Given the description of an element on the screen output the (x, y) to click on. 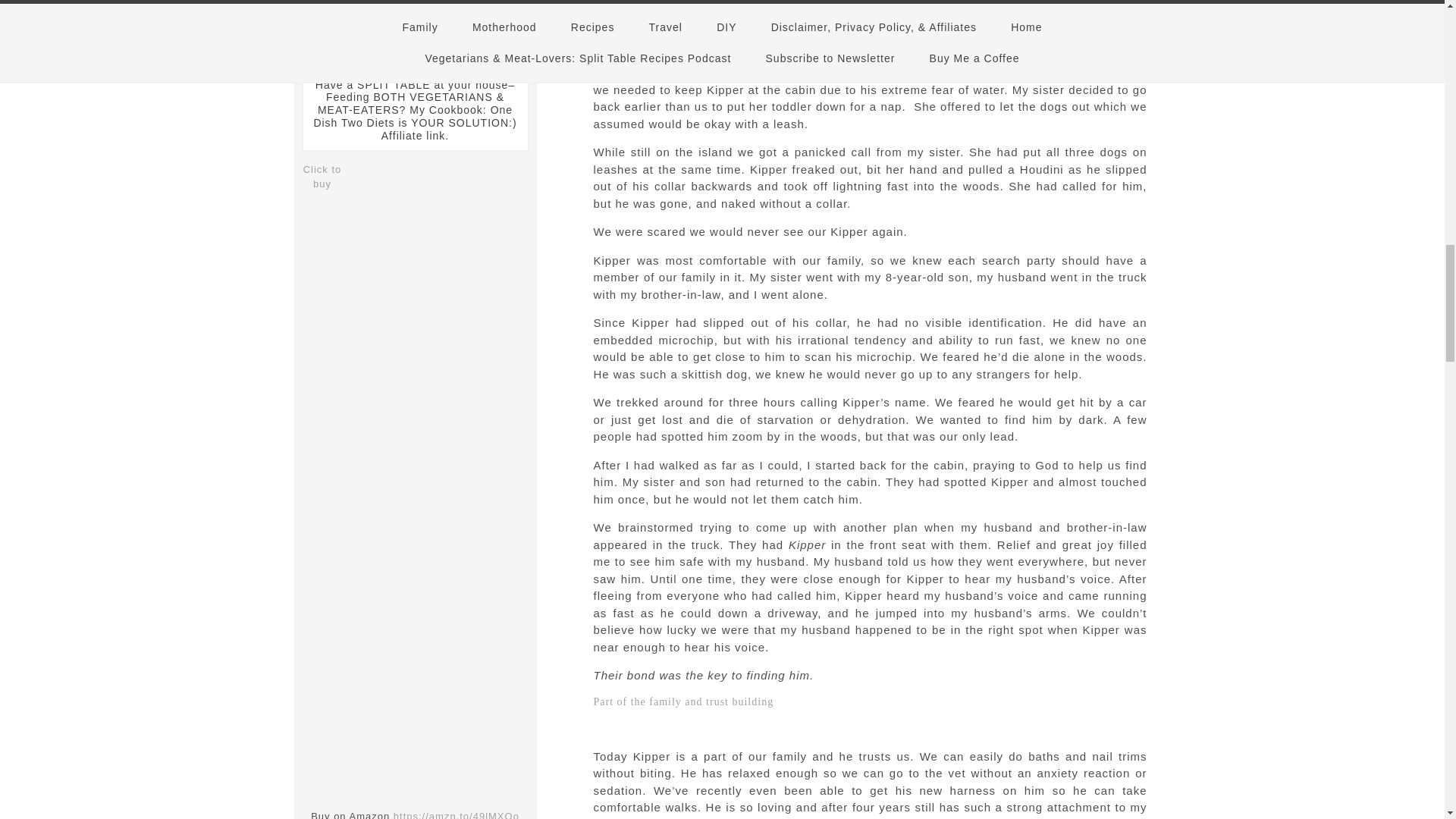
Click to buy (322, 176)
